Given the description of an element on the screen output the (x, y) to click on. 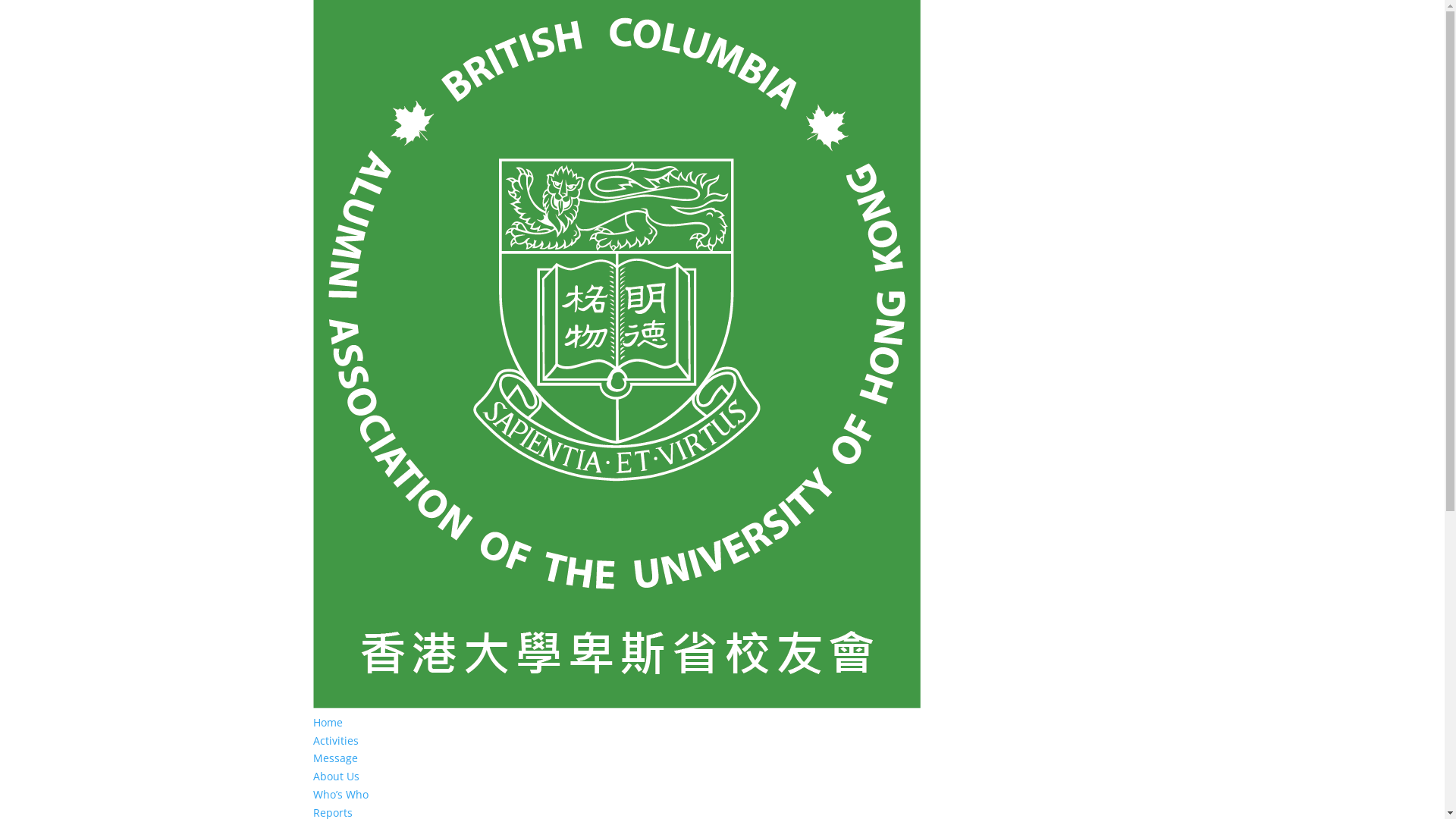
About Us Element type: text (335, 775)
Activities Element type: text (334, 740)
Home Element type: text (327, 722)
Message Element type: text (334, 757)
